Given the description of an element on the screen output the (x, y) to click on. 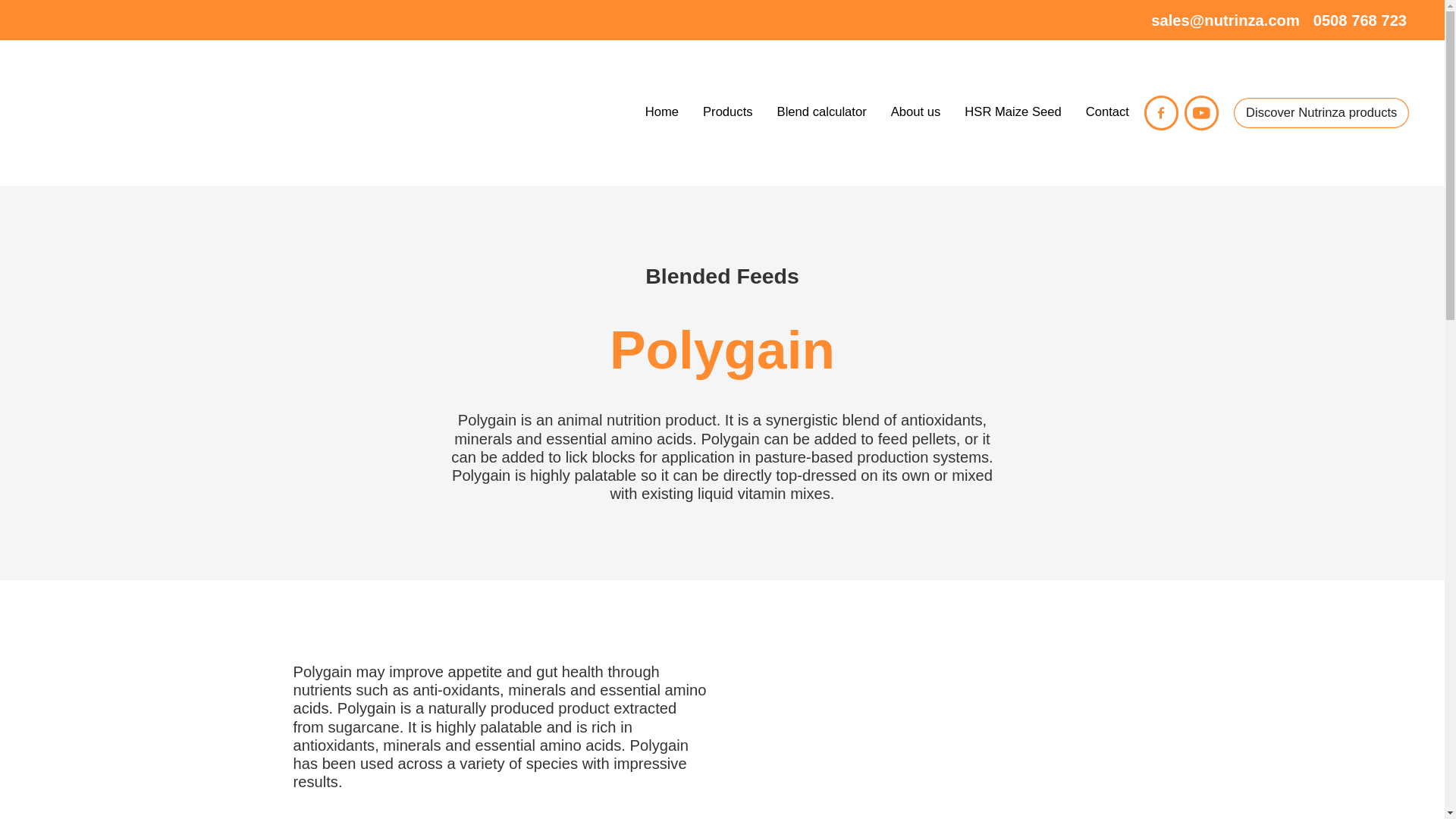
Products (727, 111)
HSR Maize Seed (1012, 111)
A link to this website's Youtube. (1201, 112)
A link to this website's Facebook. (1160, 112)
Contact (1107, 111)
Home (661, 111)
Blend calculator (821, 111)
About us (915, 111)
Discover Nutrinza products (1321, 112)
